Given the description of an element on the screen output the (x, y) to click on. 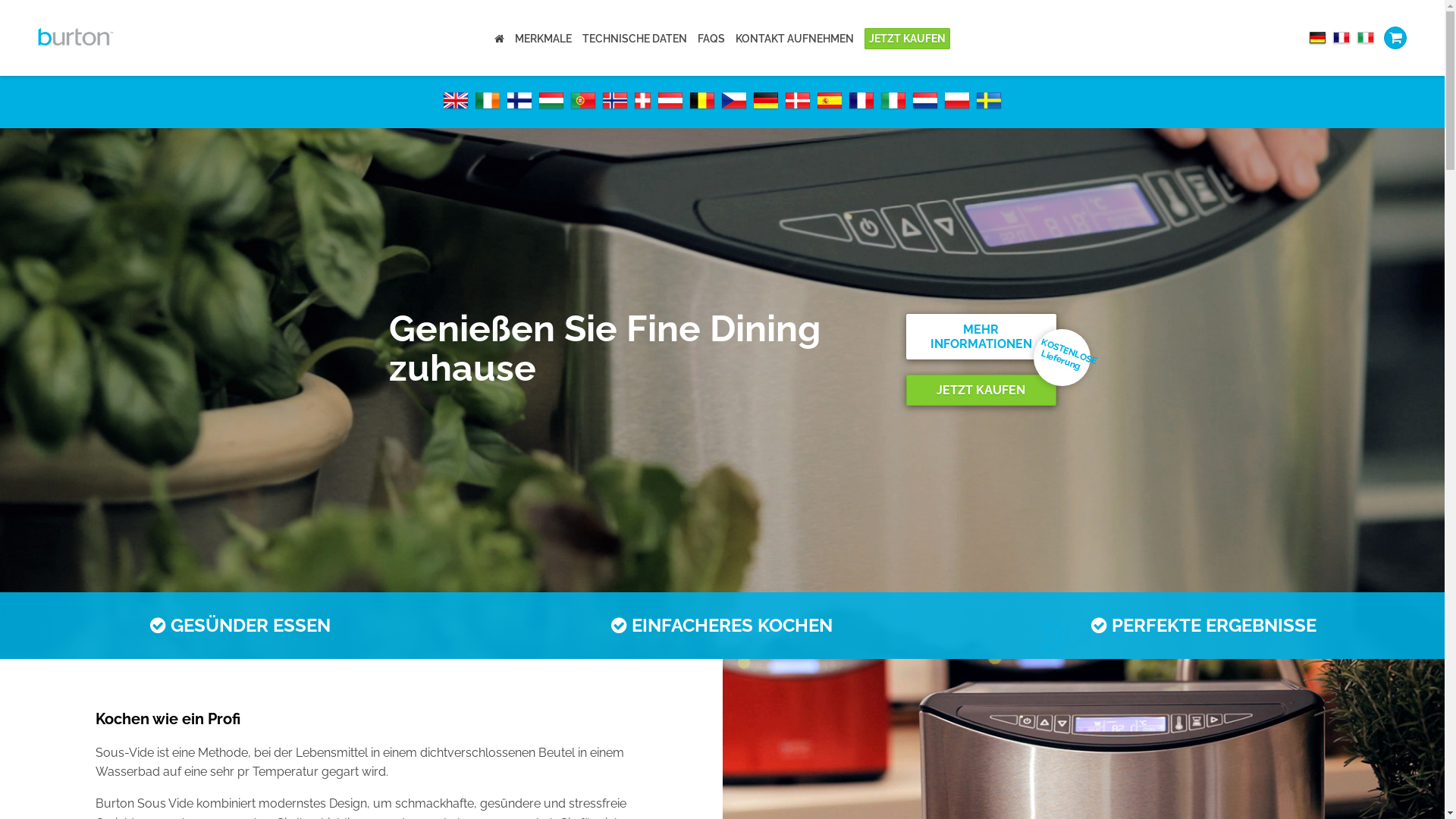
JETZT KAUFEN Element type: text (907, 38)
KOSTENLOSE
Lieferung Element type: text (1053, 349)
FAQS Element type: text (710, 38)
MEHR INFORMATIONEN Element type: text (980, 336)
MERKMALE Element type: text (542, 38)
TECHNISCHE DATEN Element type: text (634, 38)
KONTAKT AUFNEHMEN Element type: text (794, 38)
JETZT KAUFEN Element type: text (980, 389)
